Given the description of an element on the screen output the (x, y) to click on. 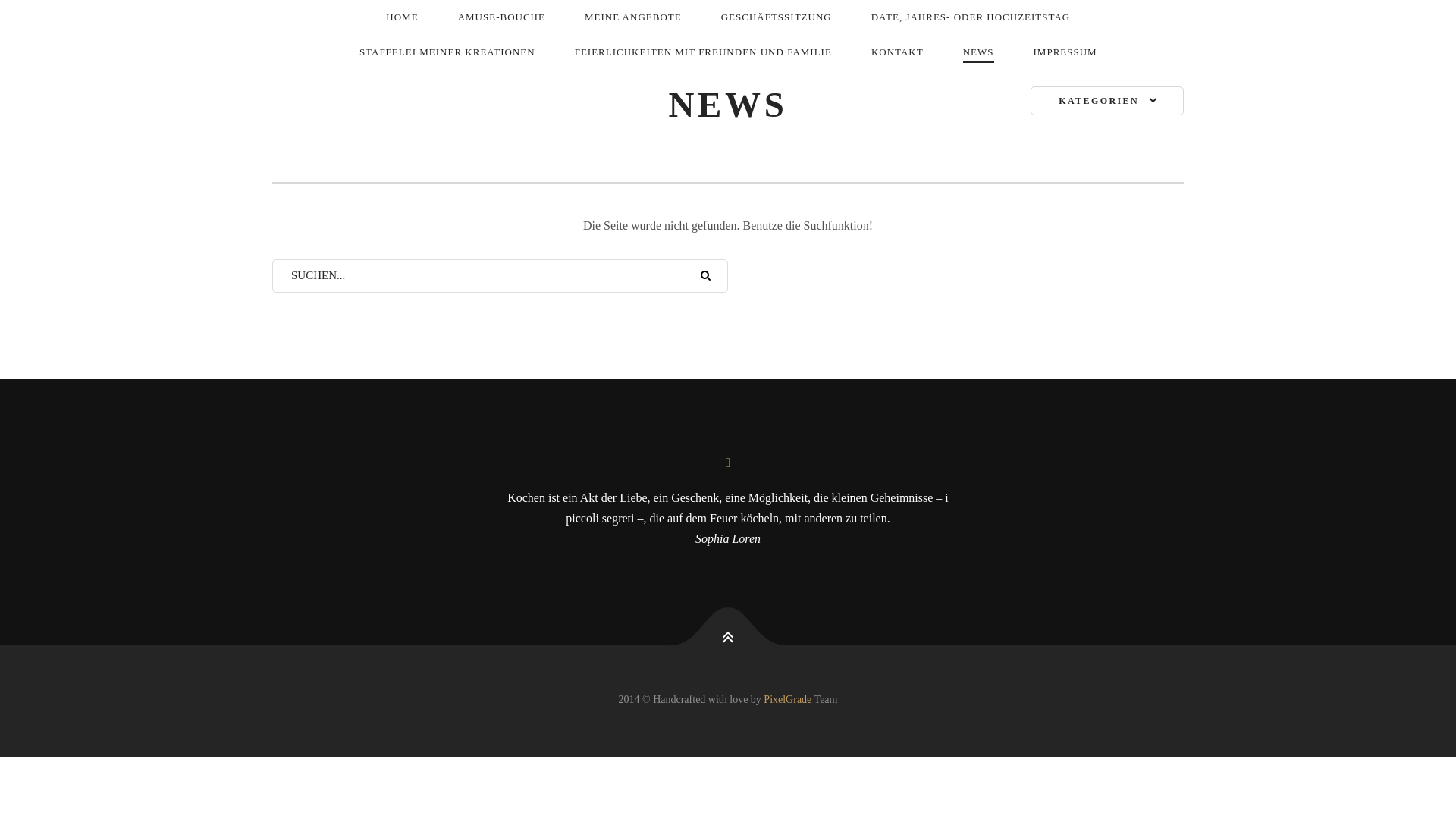
NEWS Element type: text (978, 52)
KATEGORIEN Element type: text (1106, 100)
FEIERLICHKEITEN MIT FREUNDEN UND FAMILIE Element type: text (703, 51)
HOME Element type: text (401, 17)
AMUSE-BOUCHE Element type: text (501, 17)
IMPRESSUM Element type: text (1065, 51)
KONTAKT Element type: text (897, 51)
STAFFELEI MEINER KREATIONEN Element type: text (447, 51)
MEINE ANGEBOTE Element type: text (632, 17)
DATE, JAHRES- ODER HOCHZEITSTAG Element type: text (970, 17)
PixelGrade Element type: text (787, 699)
Rosanna Element type: hover (272, 35)
